Given the description of an element on the screen output the (x, y) to click on. 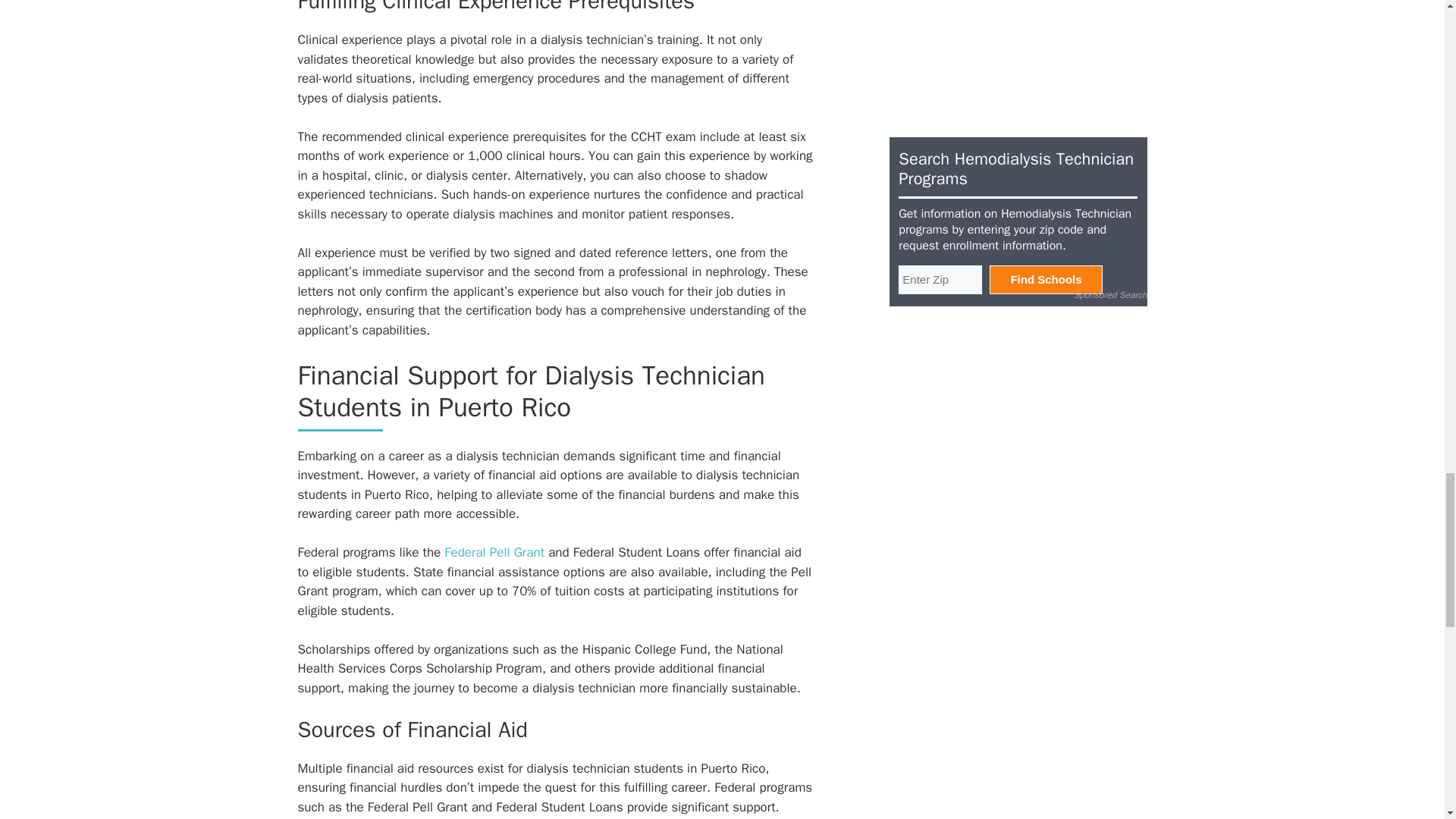
Federal Pell Grant (494, 552)
Federal Pell Grant (494, 552)
